Given the description of an element on the screen output the (x, y) to click on. 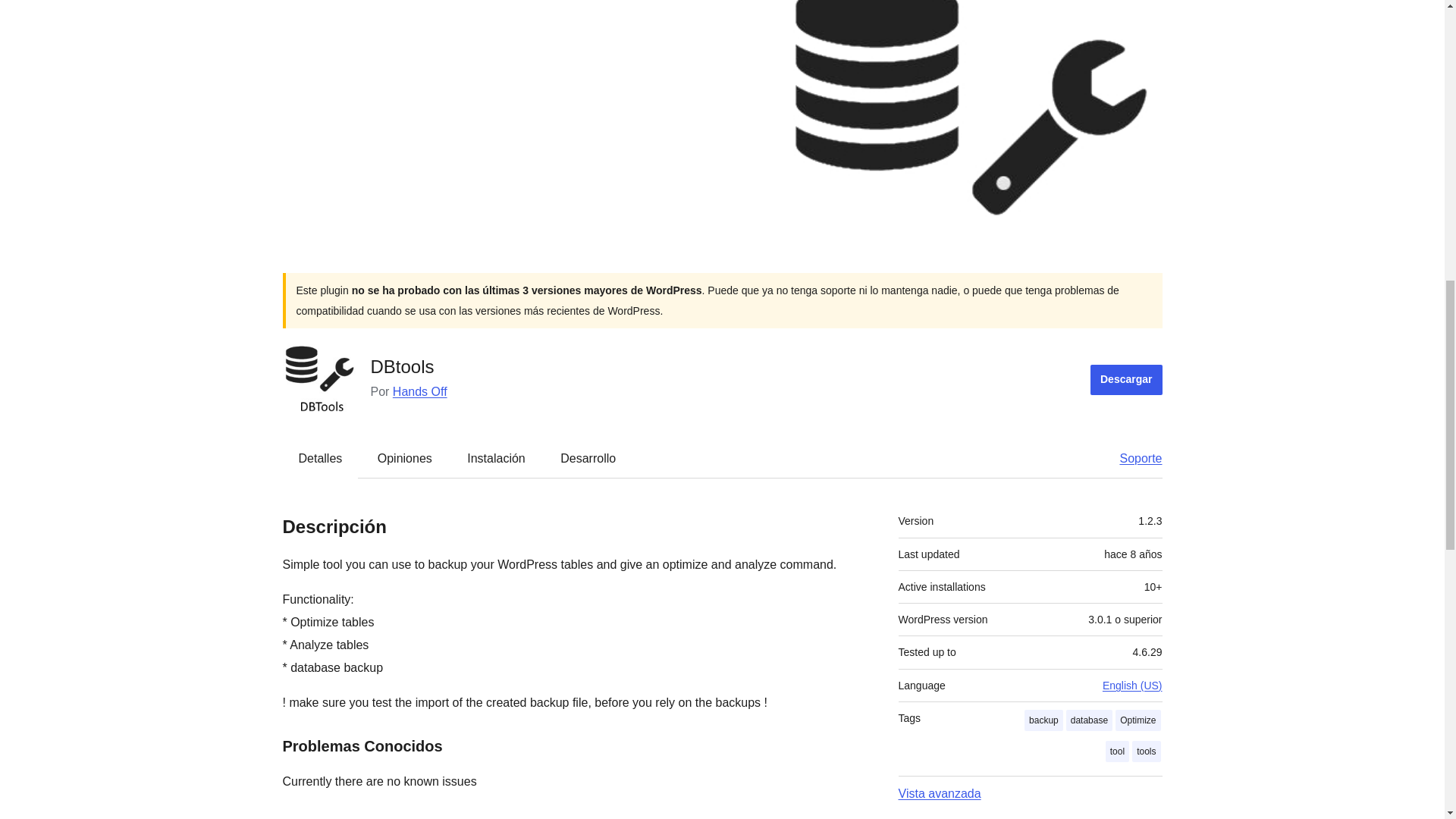
Opiniones (404, 458)
Descargar (1125, 379)
Hands Off (419, 391)
Detalles (320, 458)
